Given the description of an element on the screen output the (x, y) to click on. 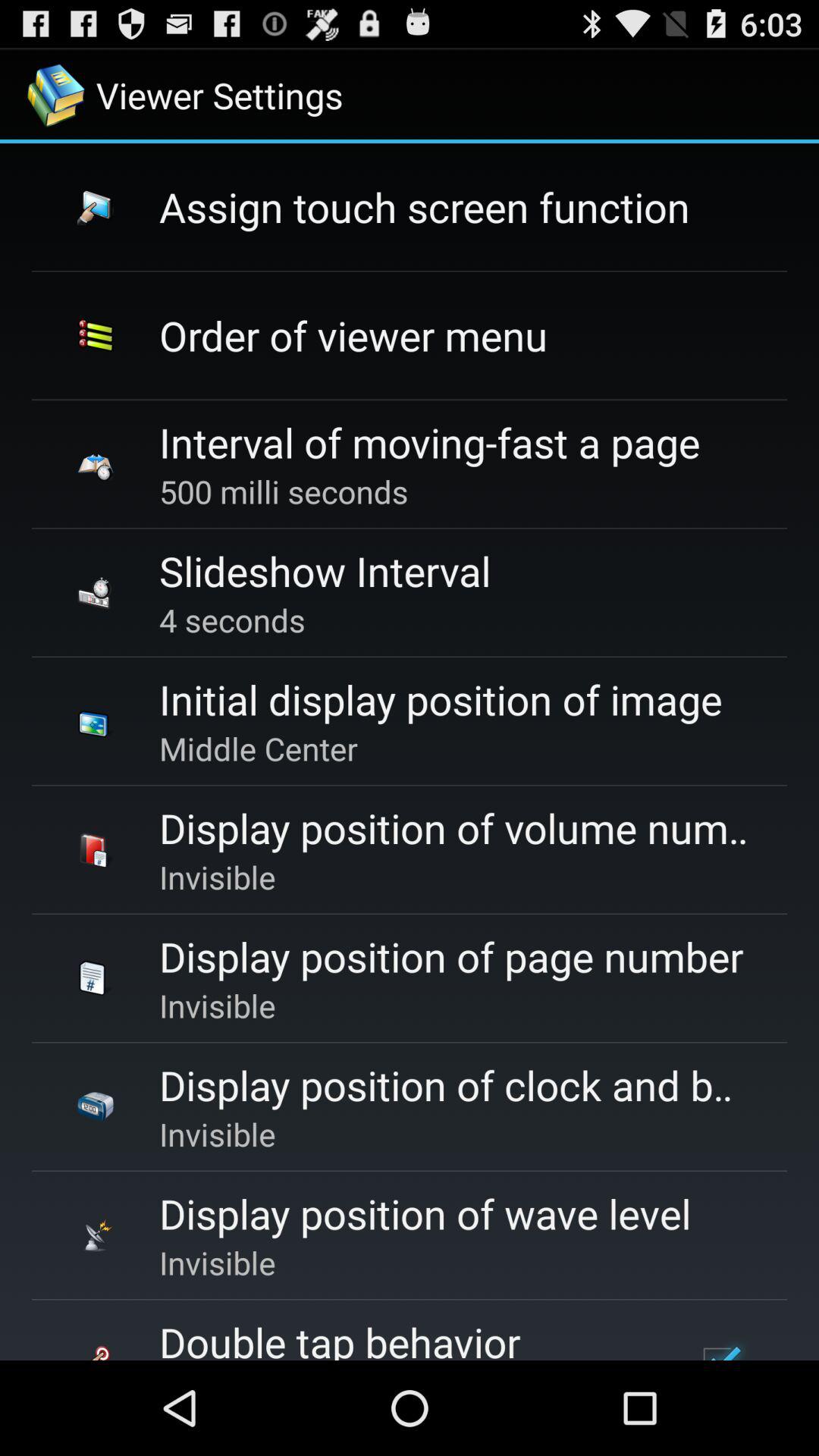
launch icon below the display position of icon (719, 1346)
